Given the description of an element on the screen output the (x, y) to click on. 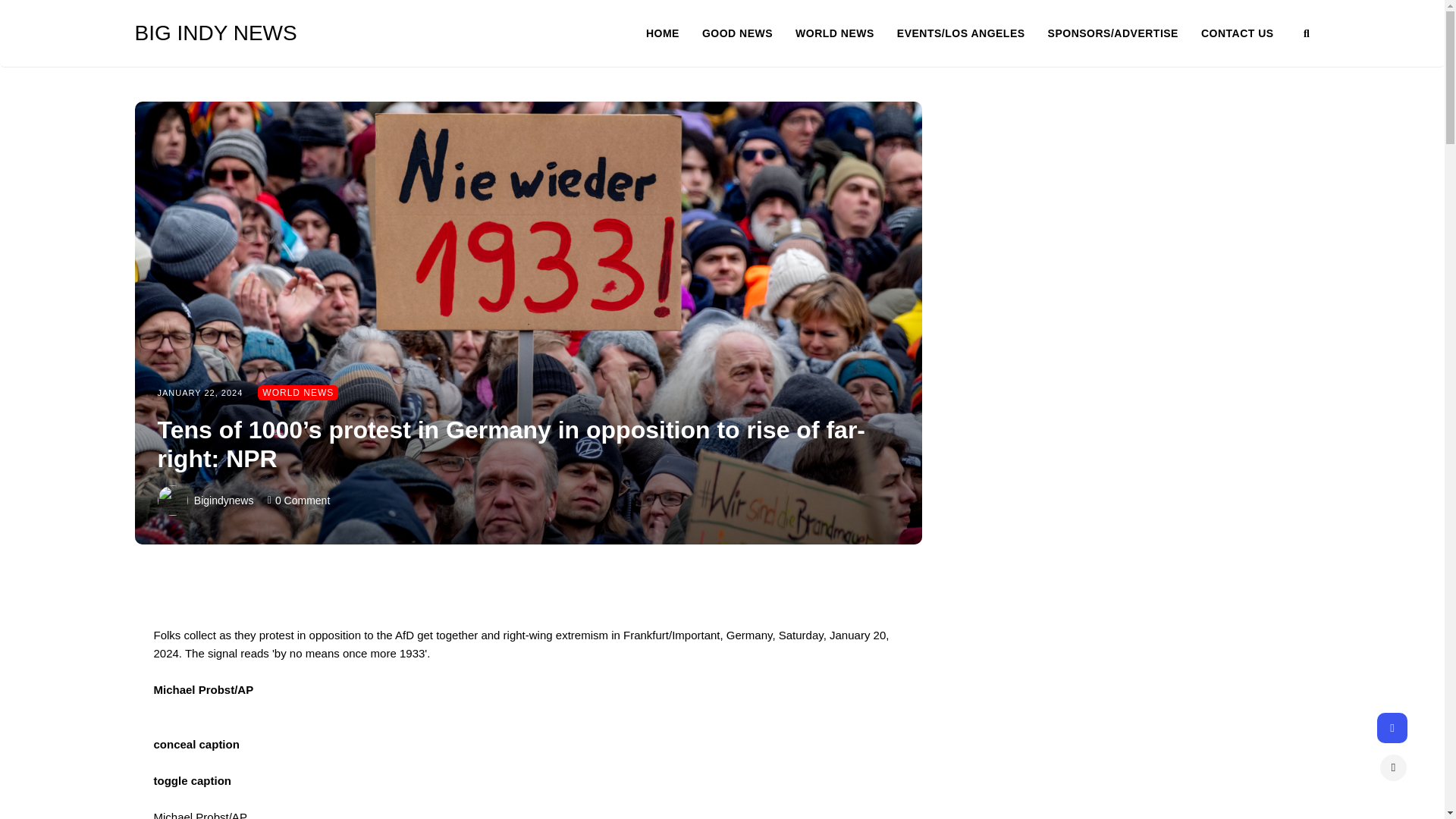
HOME (673, 32)
GOOD NEWS (747, 32)
JANUARY 22, 2024 (200, 392)
CONTACT US (1237, 32)
Posts by bigindynews (223, 500)
BIG INDY NEWS (252, 33)
0 Comment (302, 500)
Bigindynews (223, 500)
Scroll To Top (1393, 767)
WORLD NEWS (297, 392)
WORLD NEWS (845, 32)
